Given the description of an element on the screen output the (x, y) to click on. 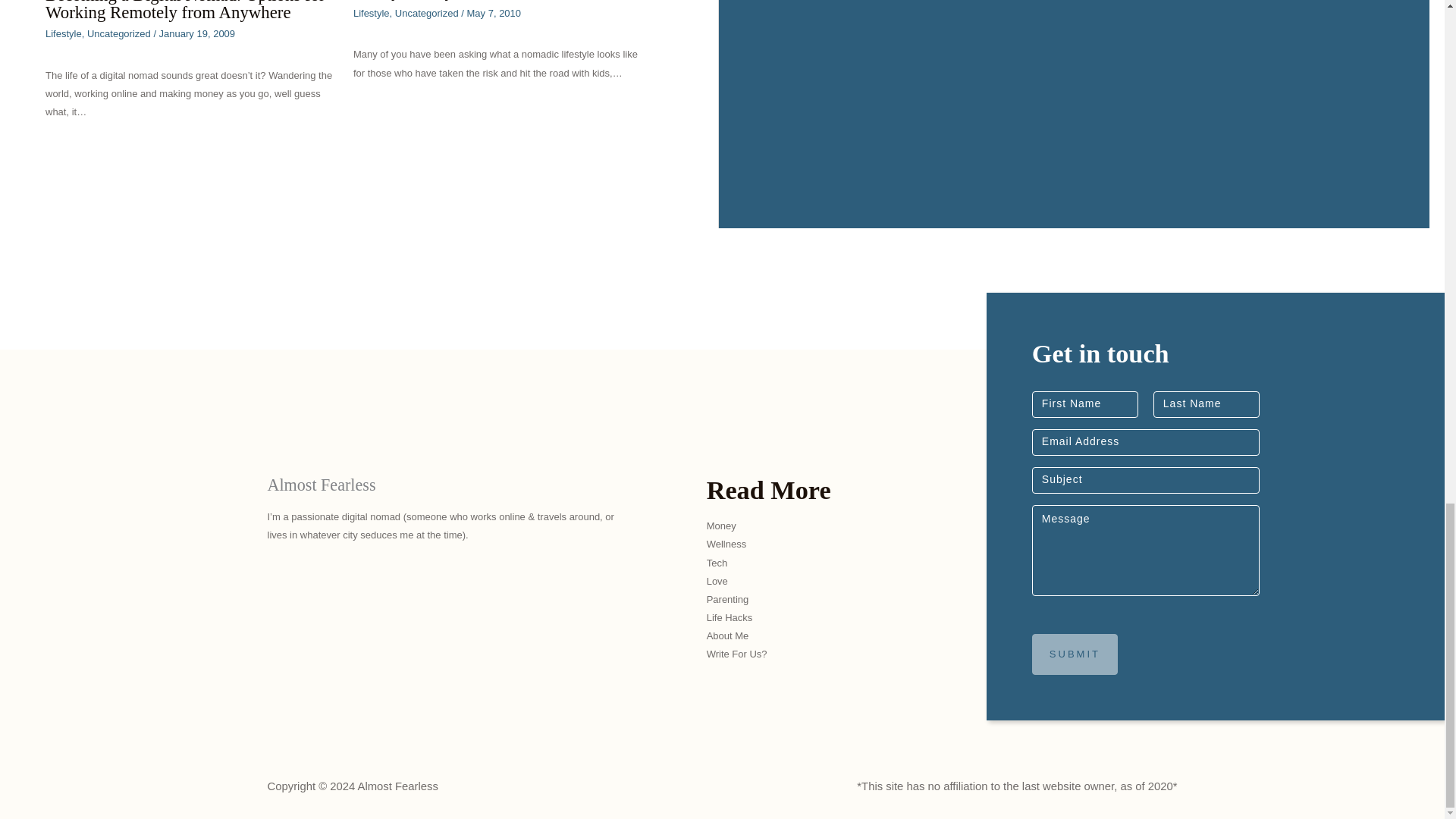
Lifestyle (371, 12)
Lifestyle (63, 33)
Uncategorized (426, 12)
Uncategorized (119, 33)
